Given the description of an element on the screen output the (x, y) to click on. 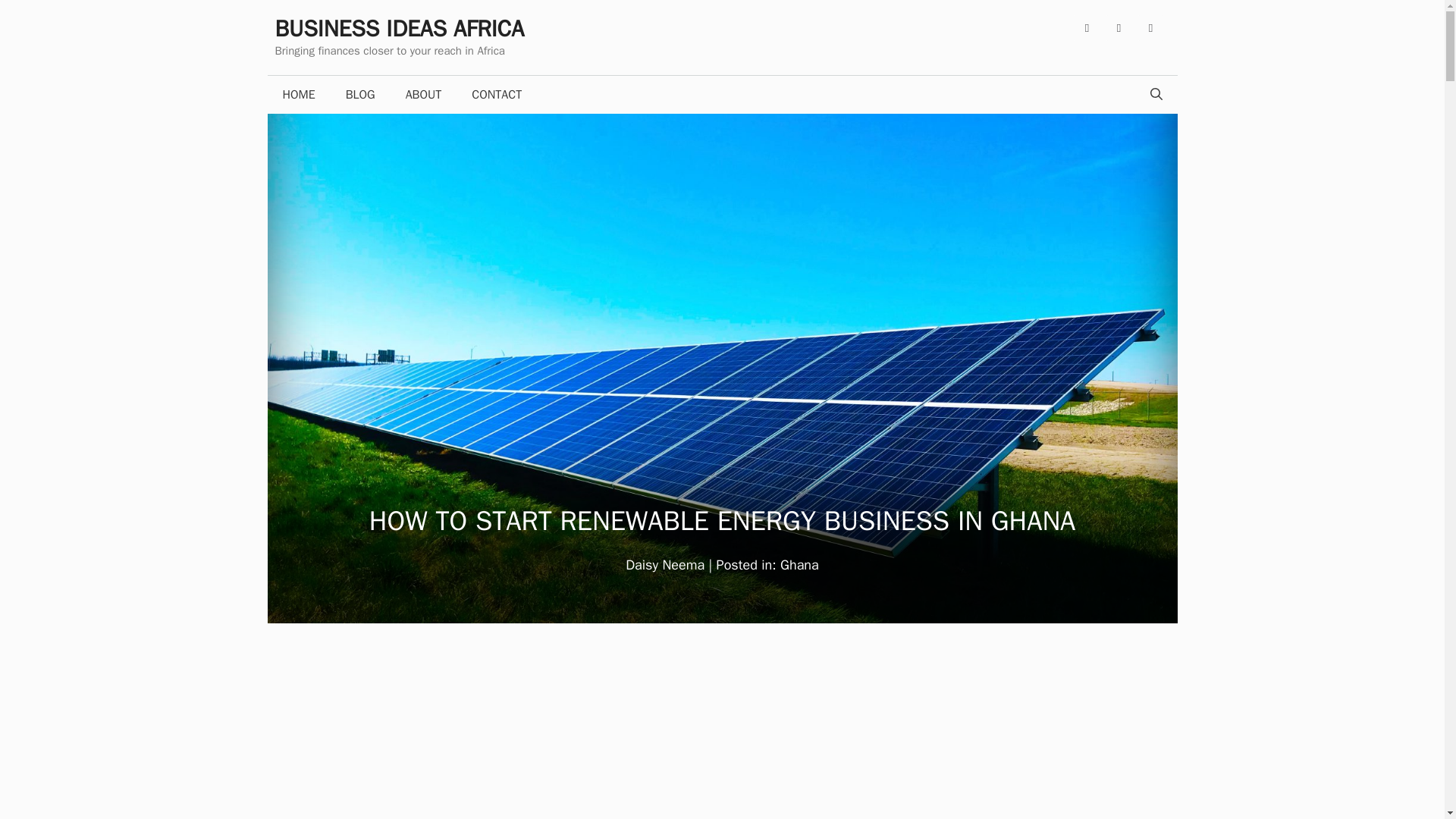
Ghana (799, 564)
Daisy Neema (665, 564)
View all posts by Daisy Neema (665, 564)
LinkedIn (1150, 27)
BLOG (360, 94)
CONTACT (497, 94)
Advertisement (722, 732)
HOME (298, 94)
BUSINESS IDEAS AFRICA (398, 28)
Facebook (1086, 27)
Twitter (1118, 27)
ABOUT (423, 94)
